Given the description of an element on the screen output the (x, y) to click on. 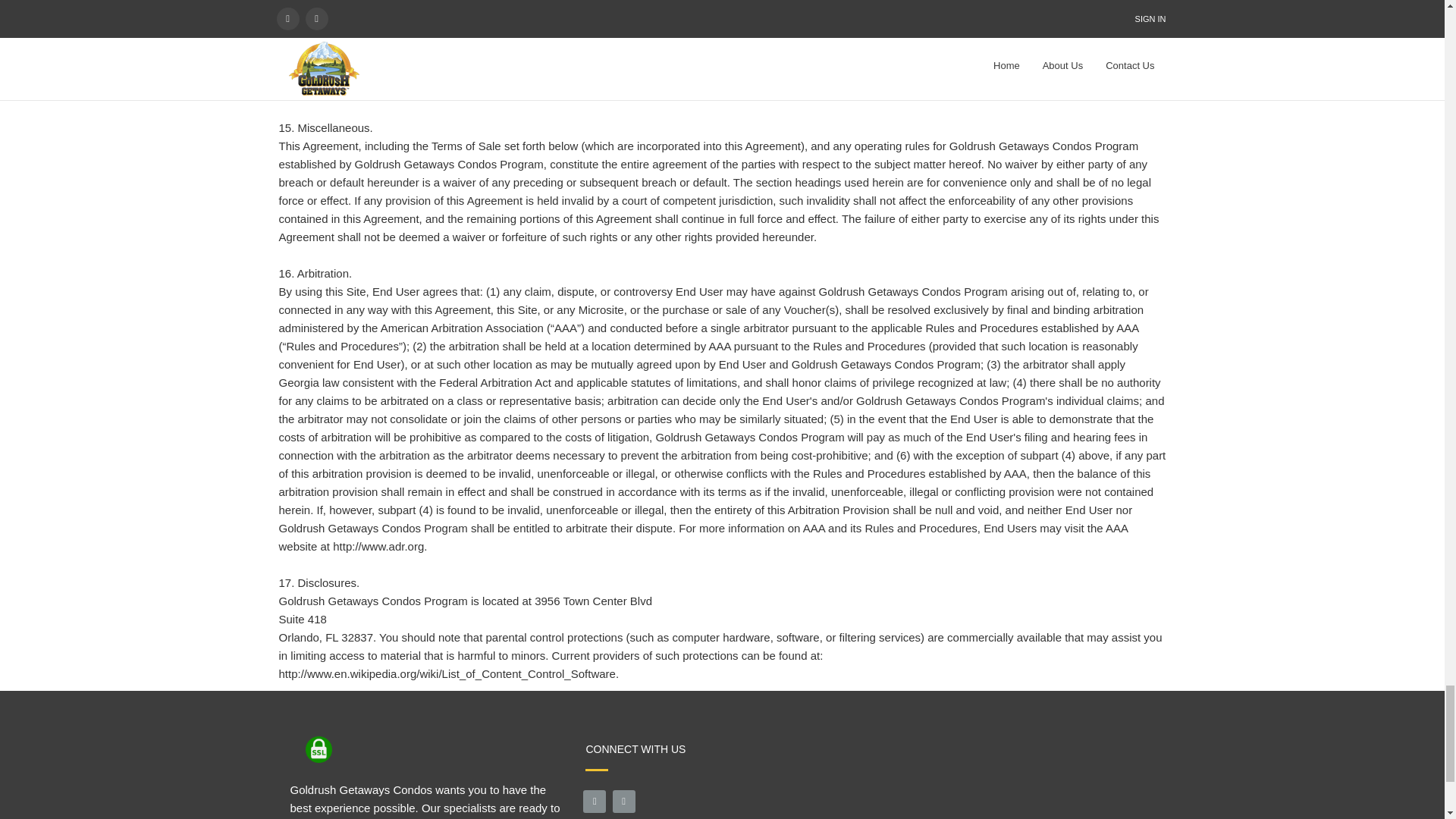
Safe website (317, 749)
